Given the description of an element on the screen output the (x, y) to click on. 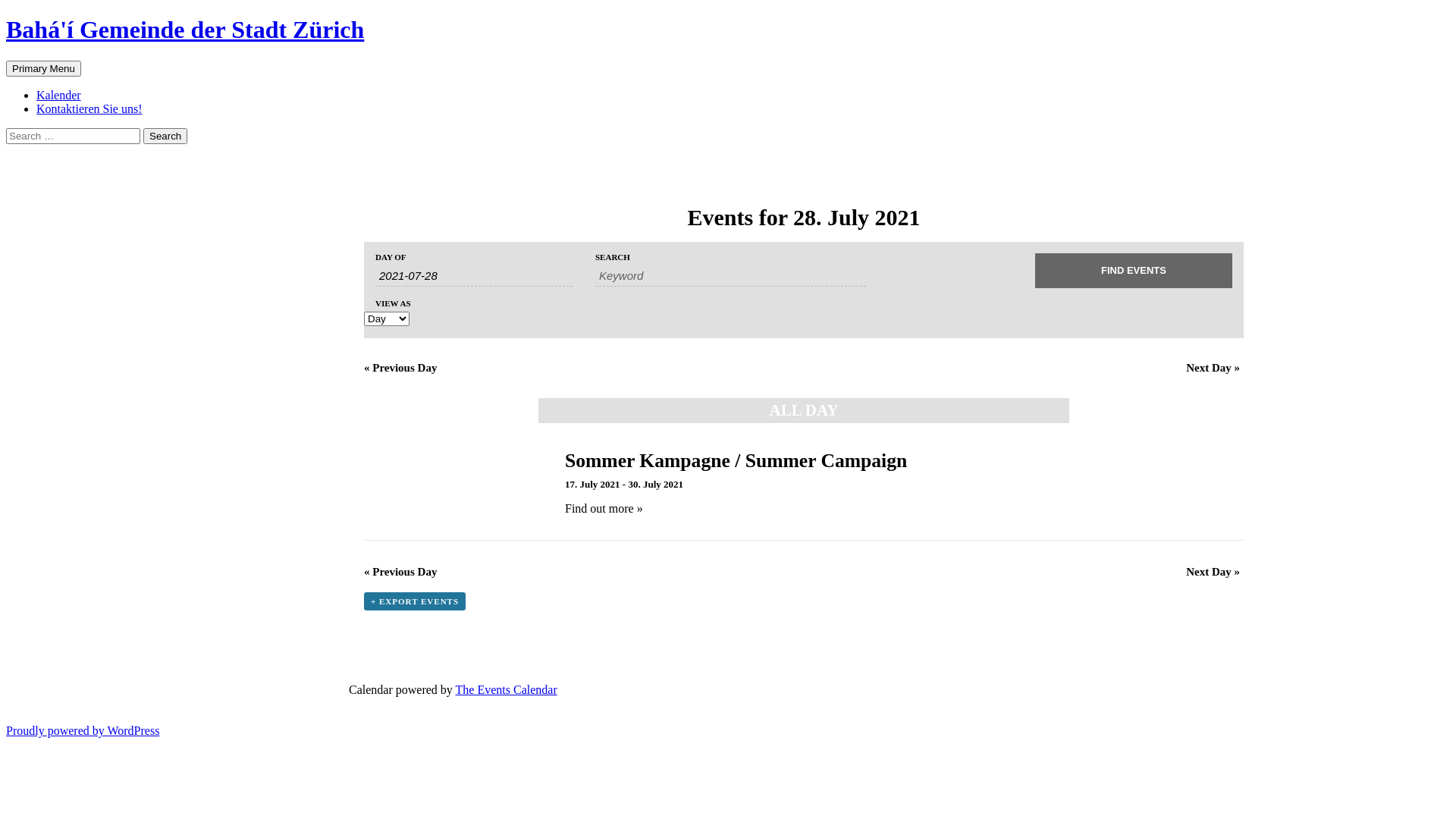
Proudly powered by WordPress Element type: text (82, 730)
Search Element type: text (165, 136)
Primary Menu Element type: text (43, 68)
Kontaktieren Sie uns! Element type: text (89, 108)
Find Events Element type: text (1133, 270)
The Events Calendar Element type: text (506, 689)
Kalender Element type: text (58, 94)
+ EXPORT EVENTS Element type: text (414, 601)
Skip to content Element type: text (81, 60)
Search Element type: text (6, 60)
Sommer Kampagne / Summer Campaign Element type: text (735, 460)
